Given the description of an element on the screen output the (x, y) to click on. 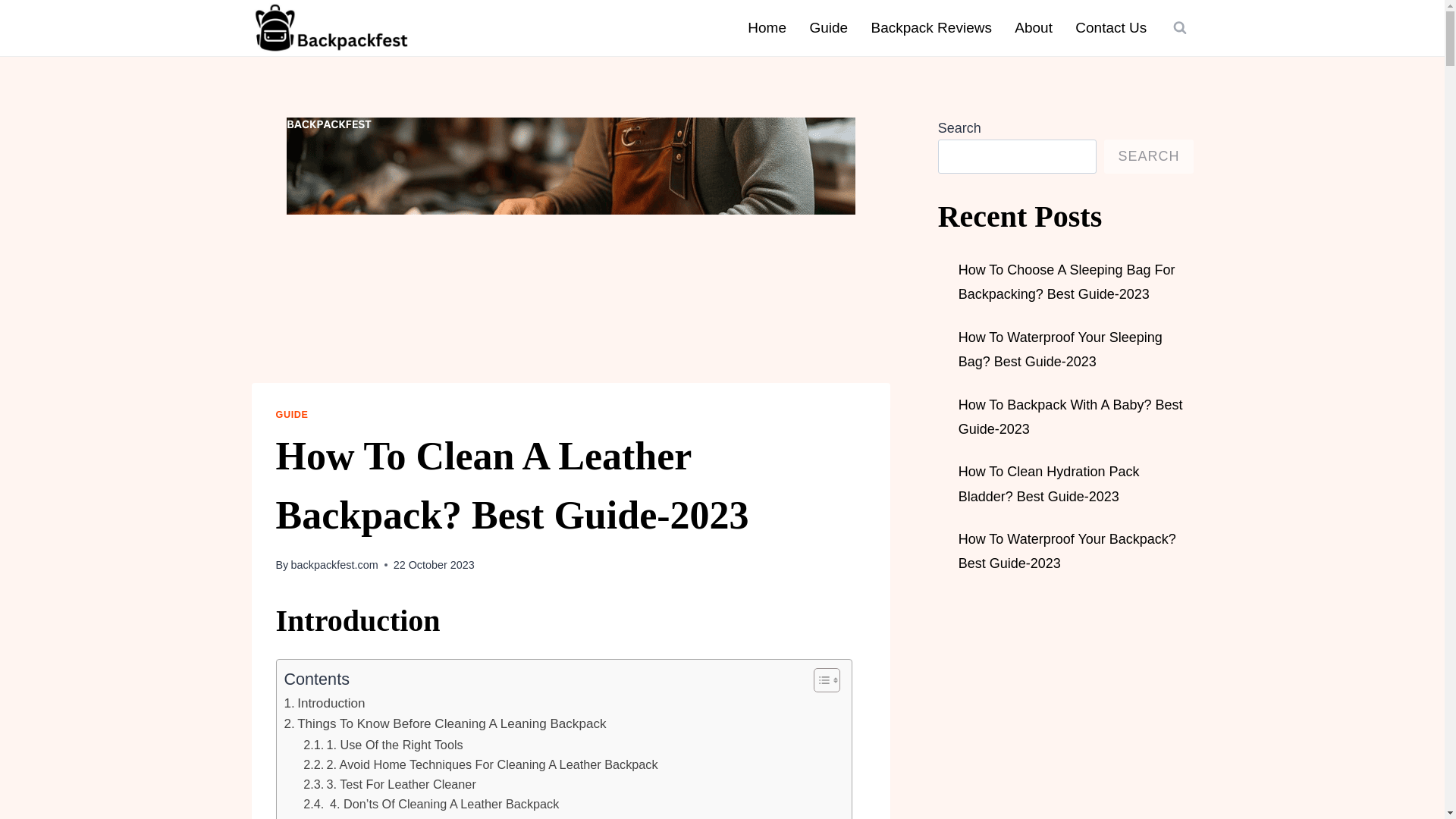
backpackfest.com (333, 564)
3. Test For Leather Cleaner (389, 783)
5. Use Of Correct Cleaner (385, 816)
About (1033, 27)
Contact Us (1110, 27)
Backpack Reviews (931, 27)
2. Avoid Home Techniques For Cleaning A Leather Backpack  (481, 763)
1. Use Of the Right Tools (382, 744)
Introduction (324, 702)
